Given the description of an element on the screen output the (x, y) to click on. 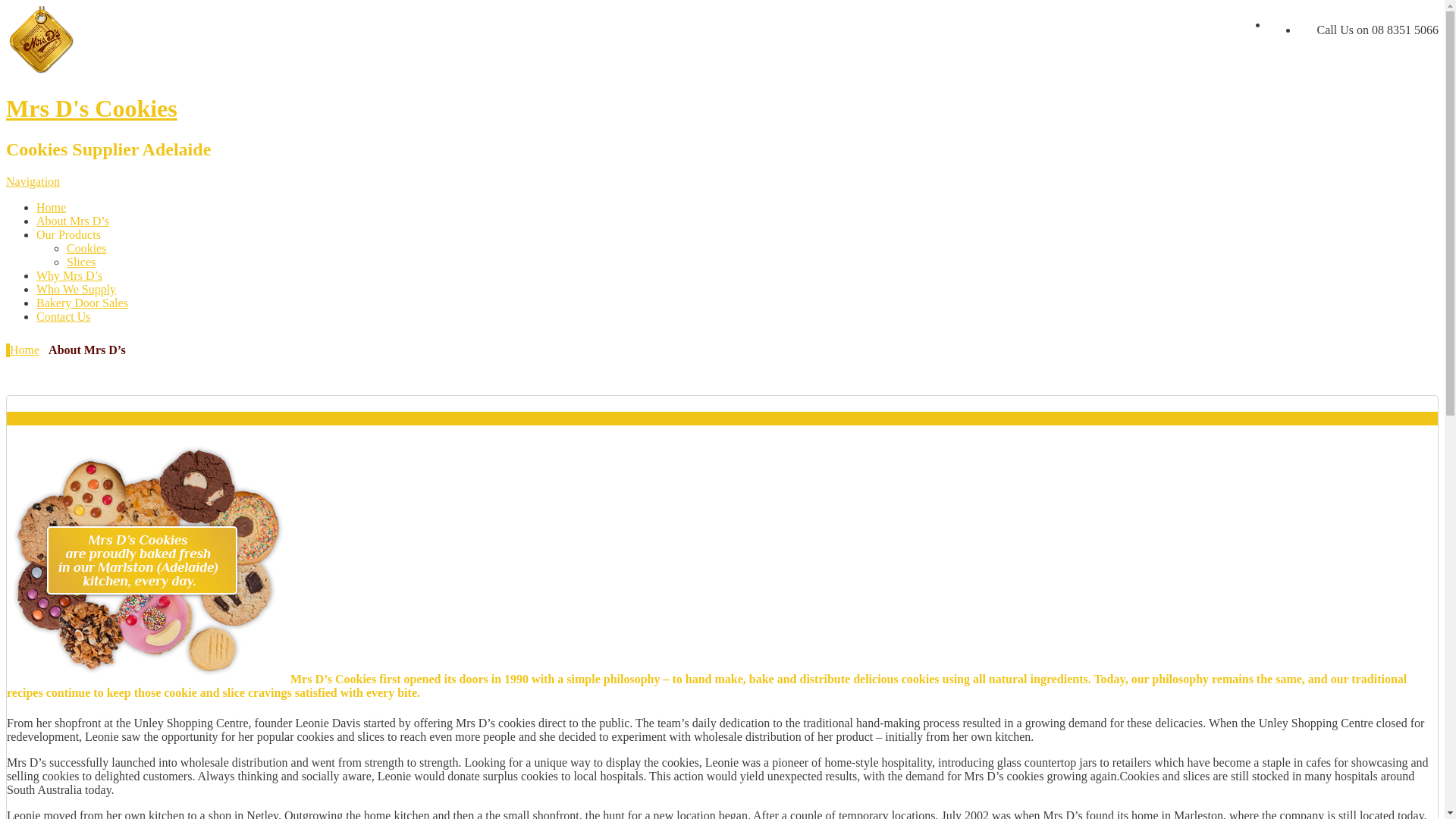
Who We Supply Element type: text (76, 288)
Bakery Door Sales Element type: text (82, 302)
Cookies Supplier Adelaide Element type: hover (41, 71)
Contact Us Element type: text (63, 316)
Home Element type: text (50, 206)
Navigation Element type: text (32, 181)
Mrs D's Cookies Element type: text (91, 108)
Home Element type: text (24, 349)
Slices Element type: text (80, 261)
Cookies Element type: text (86, 247)
Our Products Element type: text (68, 234)
